Given the description of an element on the screen output the (x, y) to click on. 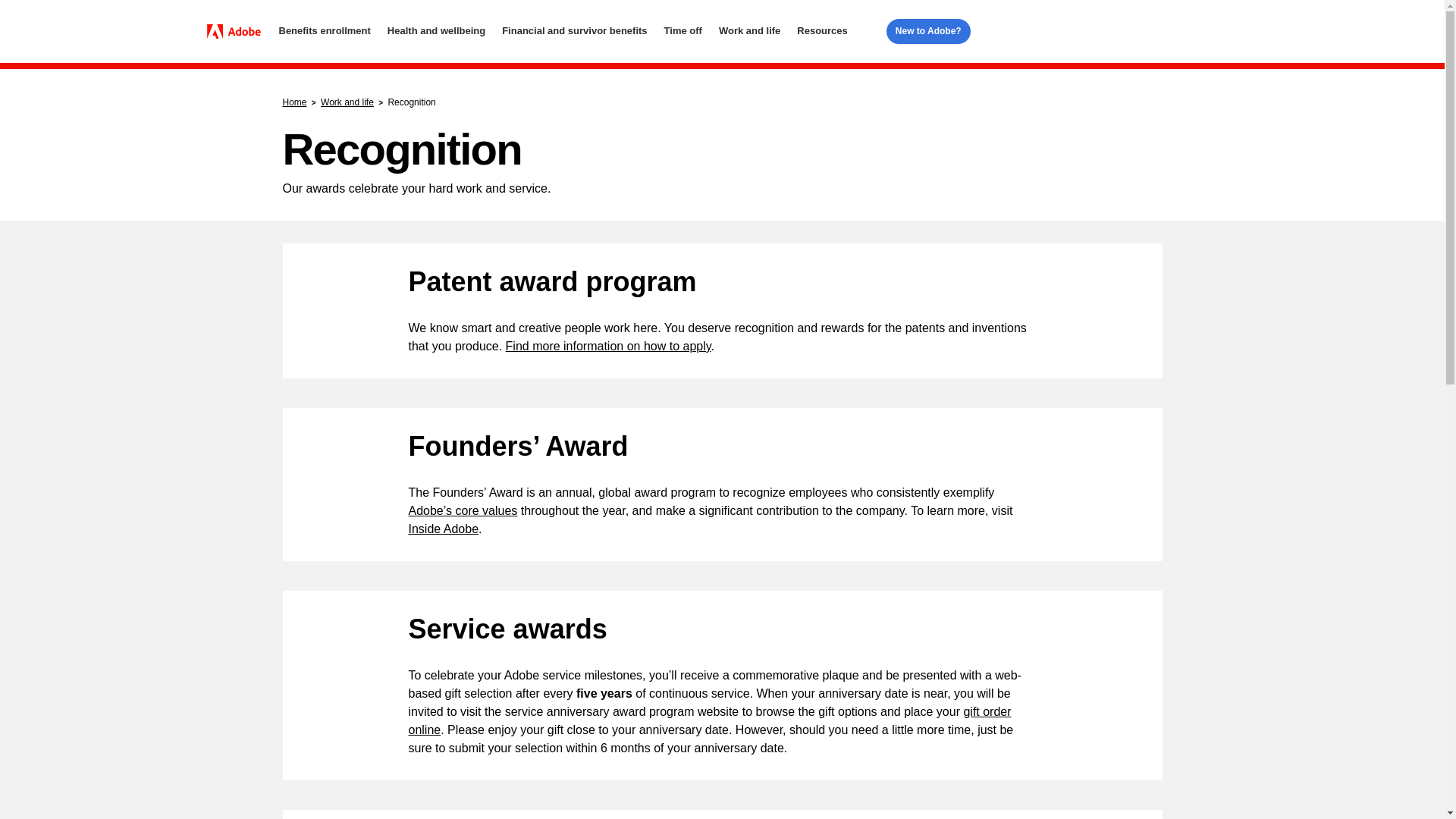
Time off (682, 31)
Financial and survivor benefits (574, 31)
Home (237, 31)
Benefits enrollment (325, 31)
Health and wellbeing (435, 31)
Work and life (749, 31)
